Given the description of an element on the screen output the (x, y) to click on. 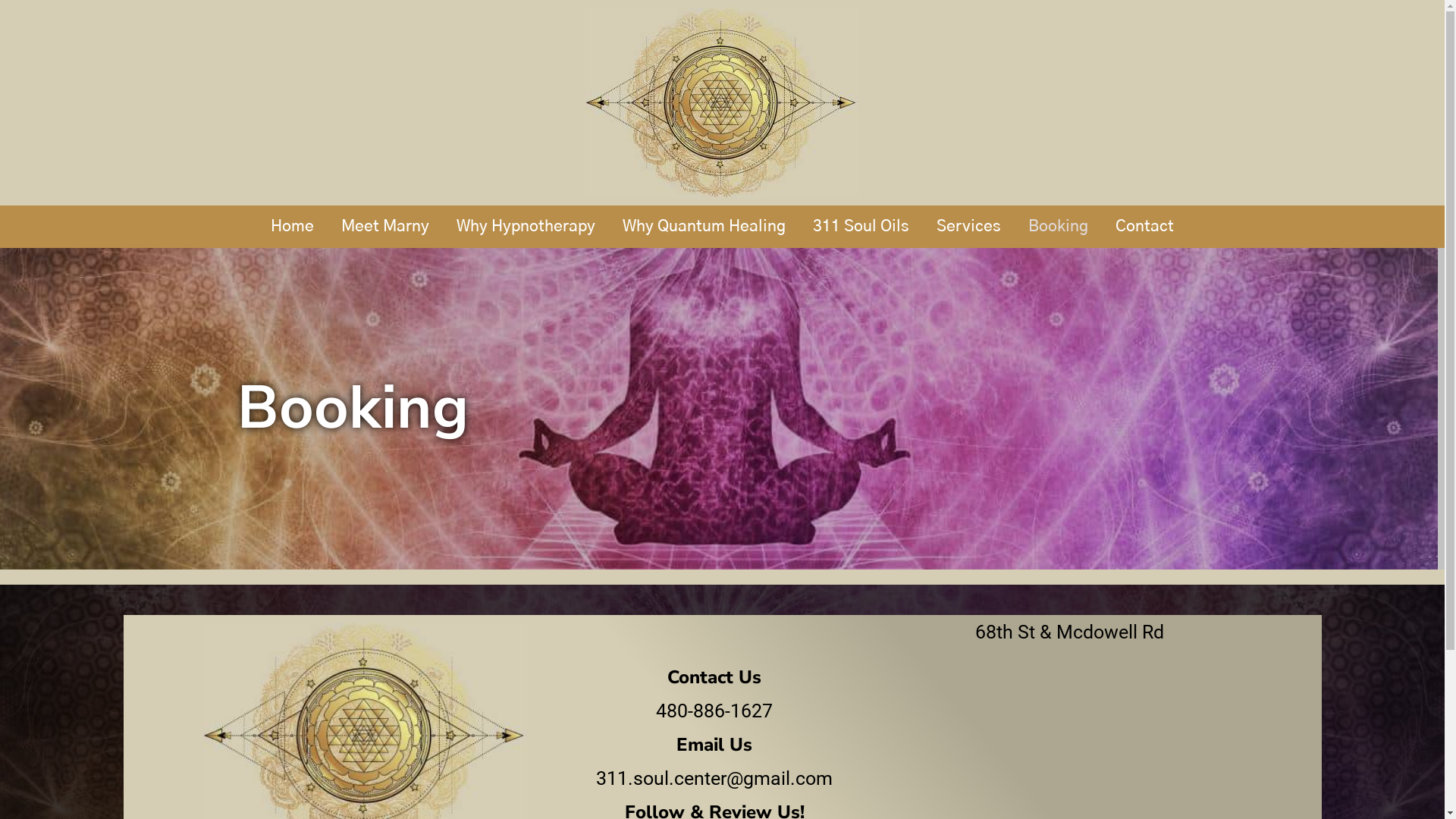
311 Soul Oils Element type: text (860, 226)
Why Hypnotherapy Element type: text (525, 226)
Why Quantum Healing Element type: text (703, 226)
Home Element type: text (292, 226)
Contact Element type: text (1144, 226)
Meet Marny Element type: text (384, 226)
Services Element type: text (968, 226)
Booking Element type: text (1057, 226)
